Given the description of an element on the screen output the (x, y) to click on. 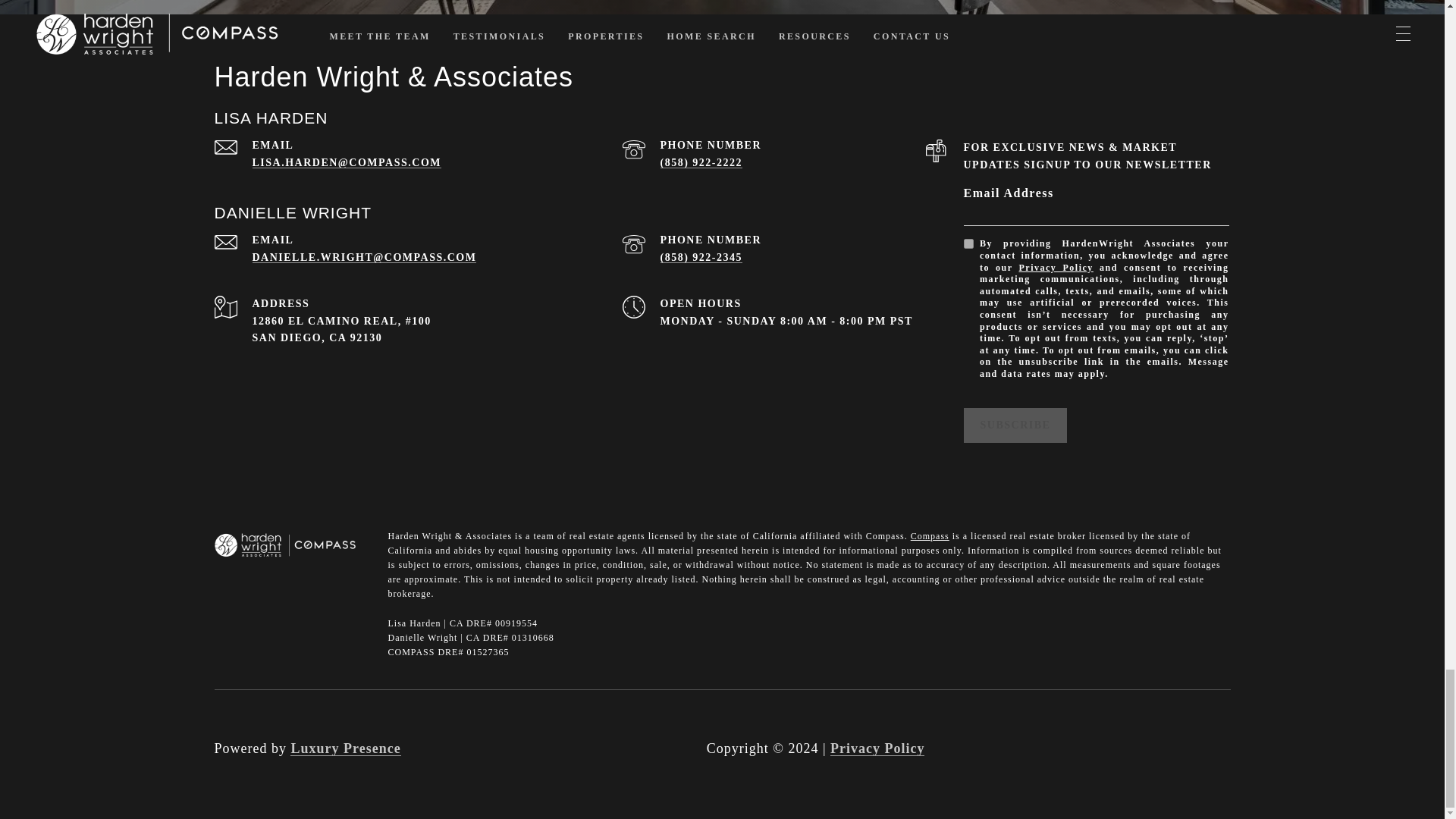
on (967, 243)
